Given the description of an element on the screen output the (x, y) to click on. 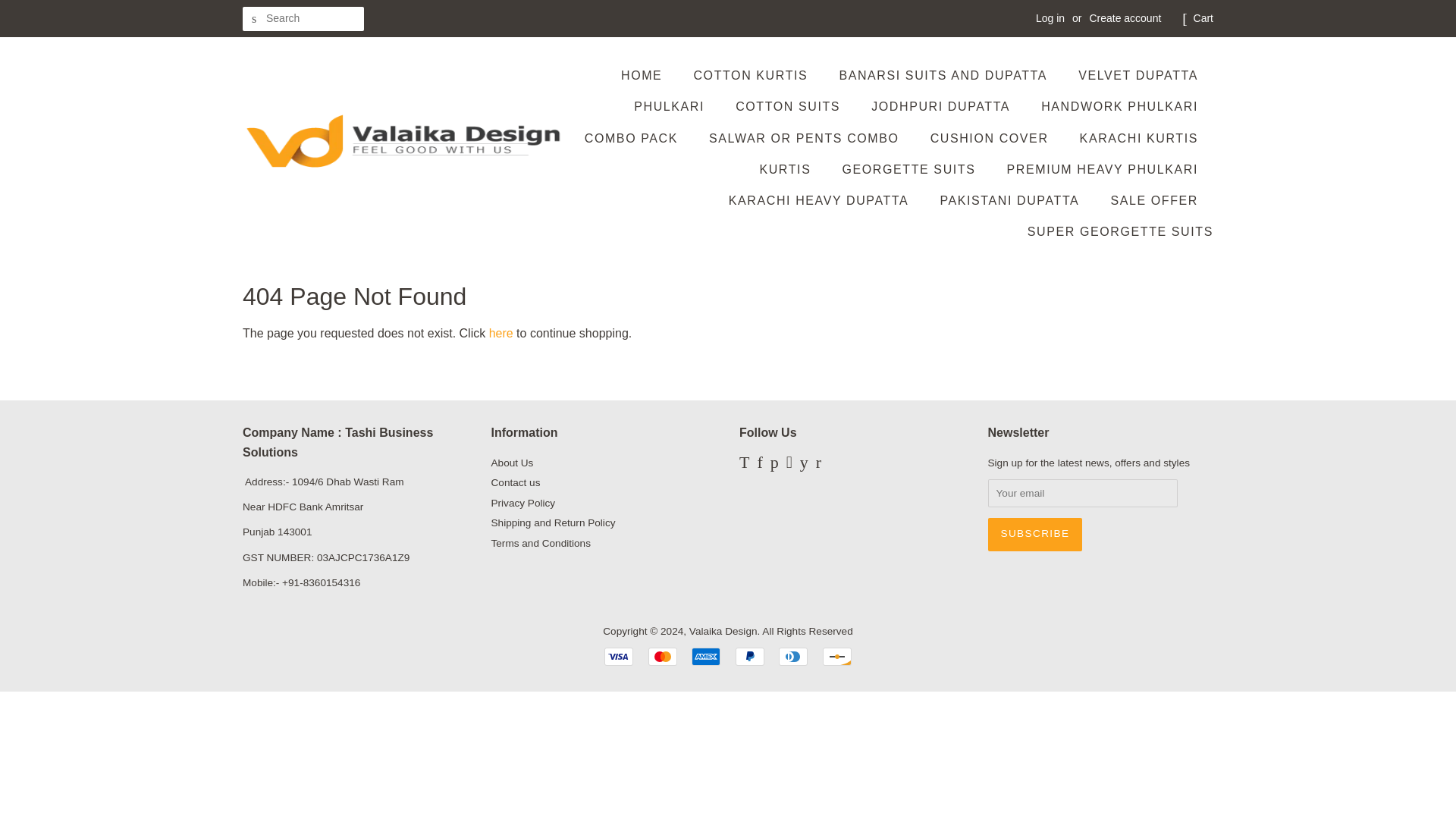
BANARSI SUITS AND DUPATTA (944, 74)
Diners Club (793, 656)
JODHPURI DUPATTA (942, 106)
Cart (1202, 18)
COTTON SUITS (789, 106)
Log in (1049, 18)
Create account (1124, 18)
Mastercard (662, 656)
SEARCH (254, 18)
HOME (649, 74)
Visa (618, 656)
PayPal (749, 656)
Discover (836, 656)
HANDWORK PHULKARI (1120, 106)
COTTON KURTIS (751, 74)
